Given the description of an element on the screen output the (x, y) to click on. 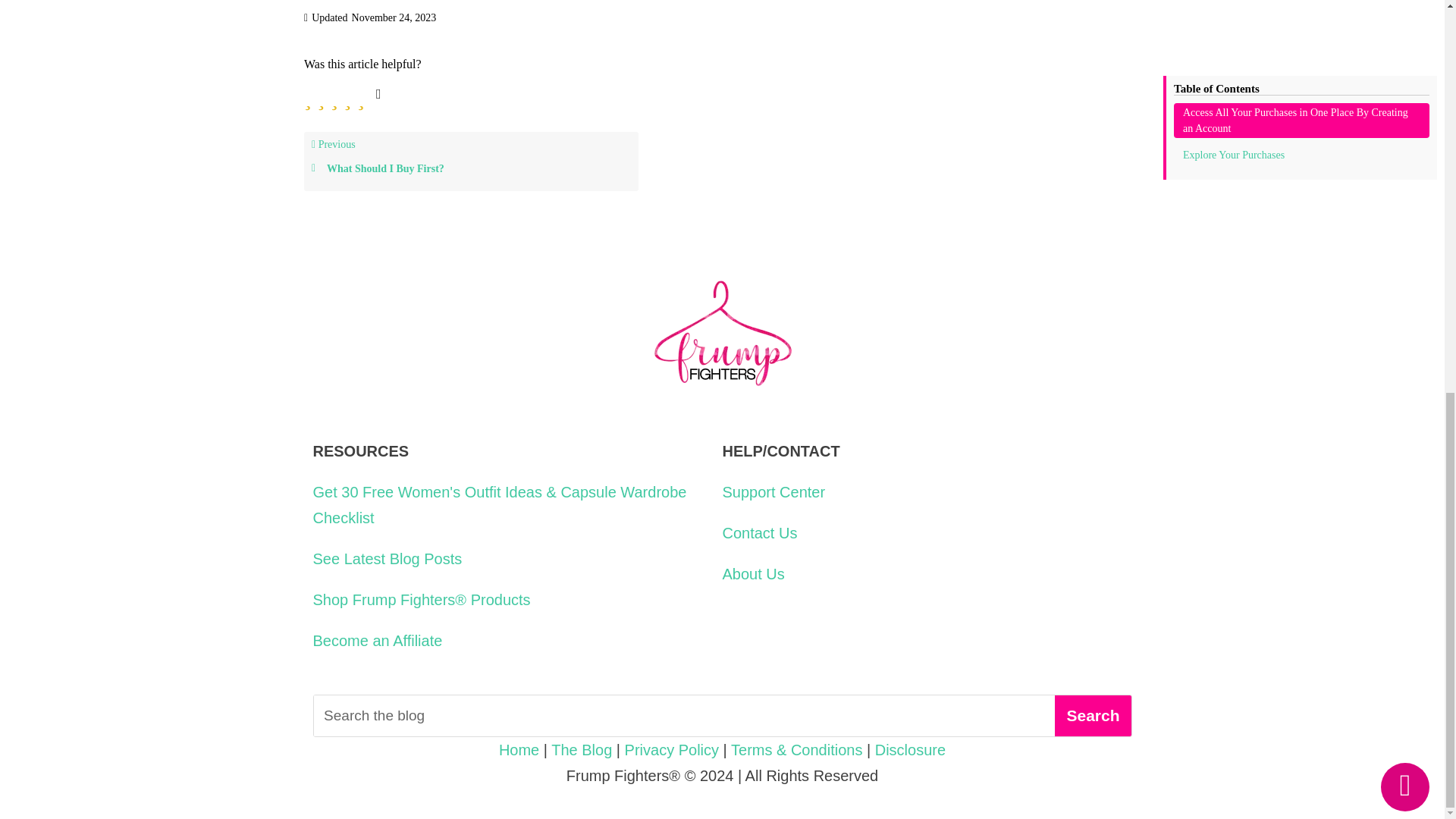
Bold, Transparent - Frump Fighters Logo 200px COMPRESSED - (721, 335)
Search (1092, 715)
Search (1092, 715)
What Should I Buy First? (470, 168)
